Given the description of an element on the screen output the (x, y) to click on. 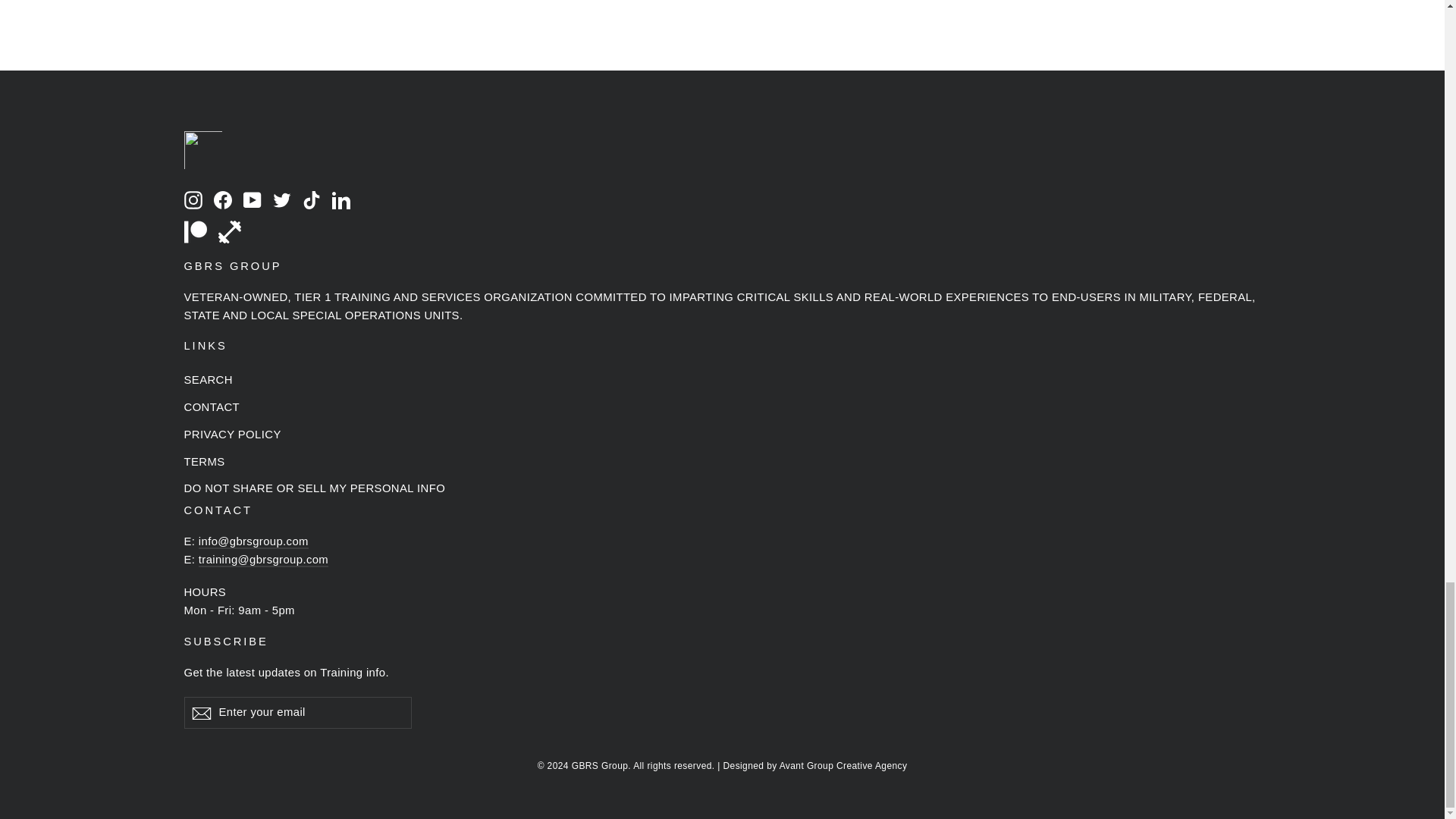
GBRS Group on Facebook (222, 199)
GBRS Group on YouTube (251, 199)
GBRS Group on Instagram (192, 199)
GBRS Group on Twitter (282, 199)
GBRS Group on Patreon (194, 231)
GBRS Group on LinkedIn (340, 199)
GBRS Group on TikTok (310, 199)
